Given the description of an element on the screen output the (x, y) to click on. 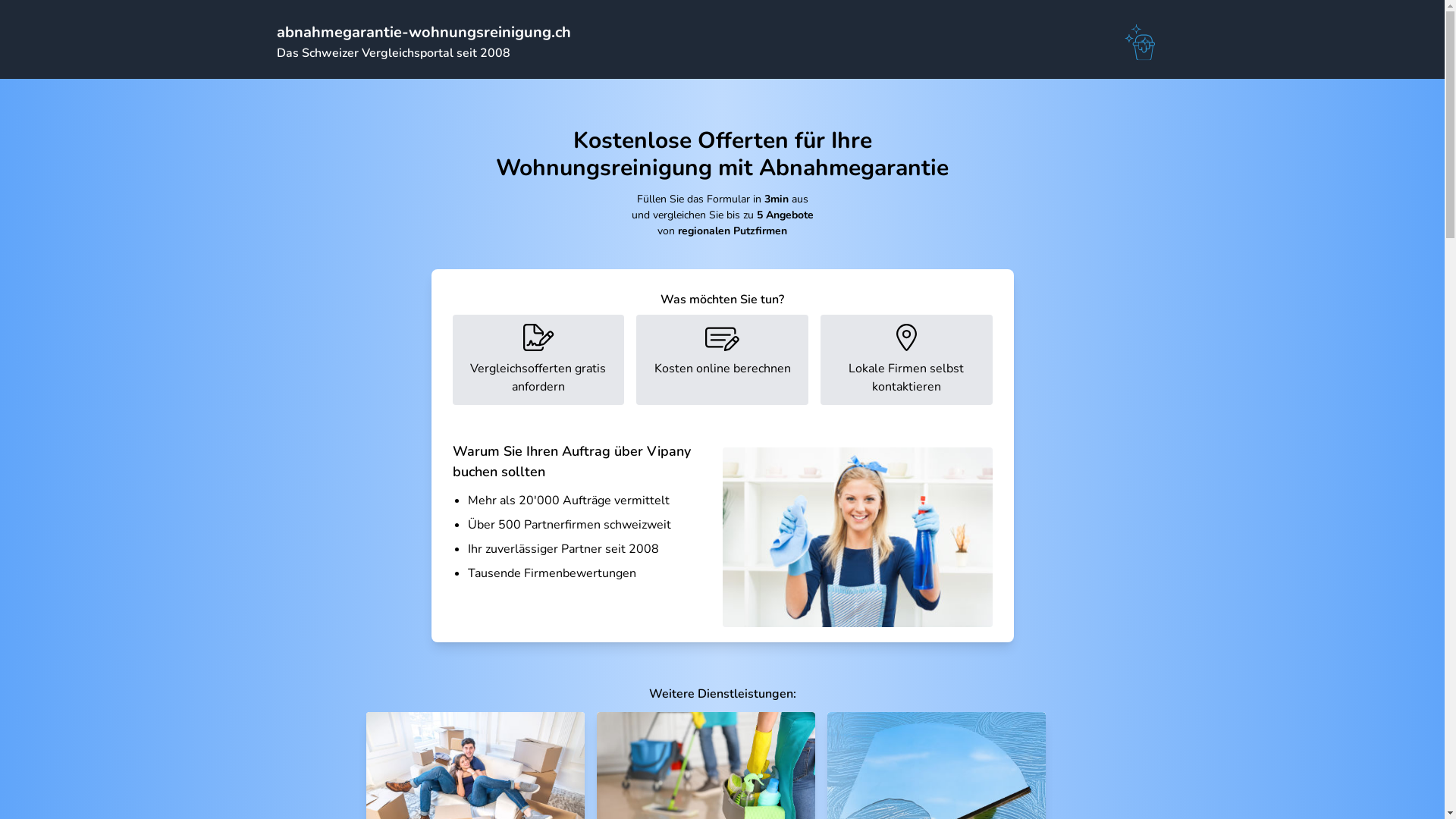
abnahmegarantie-wohnungsreinigung.ch Element type: text (423, 31)
